Given the description of an element on the screen output the (x, y) to click on. 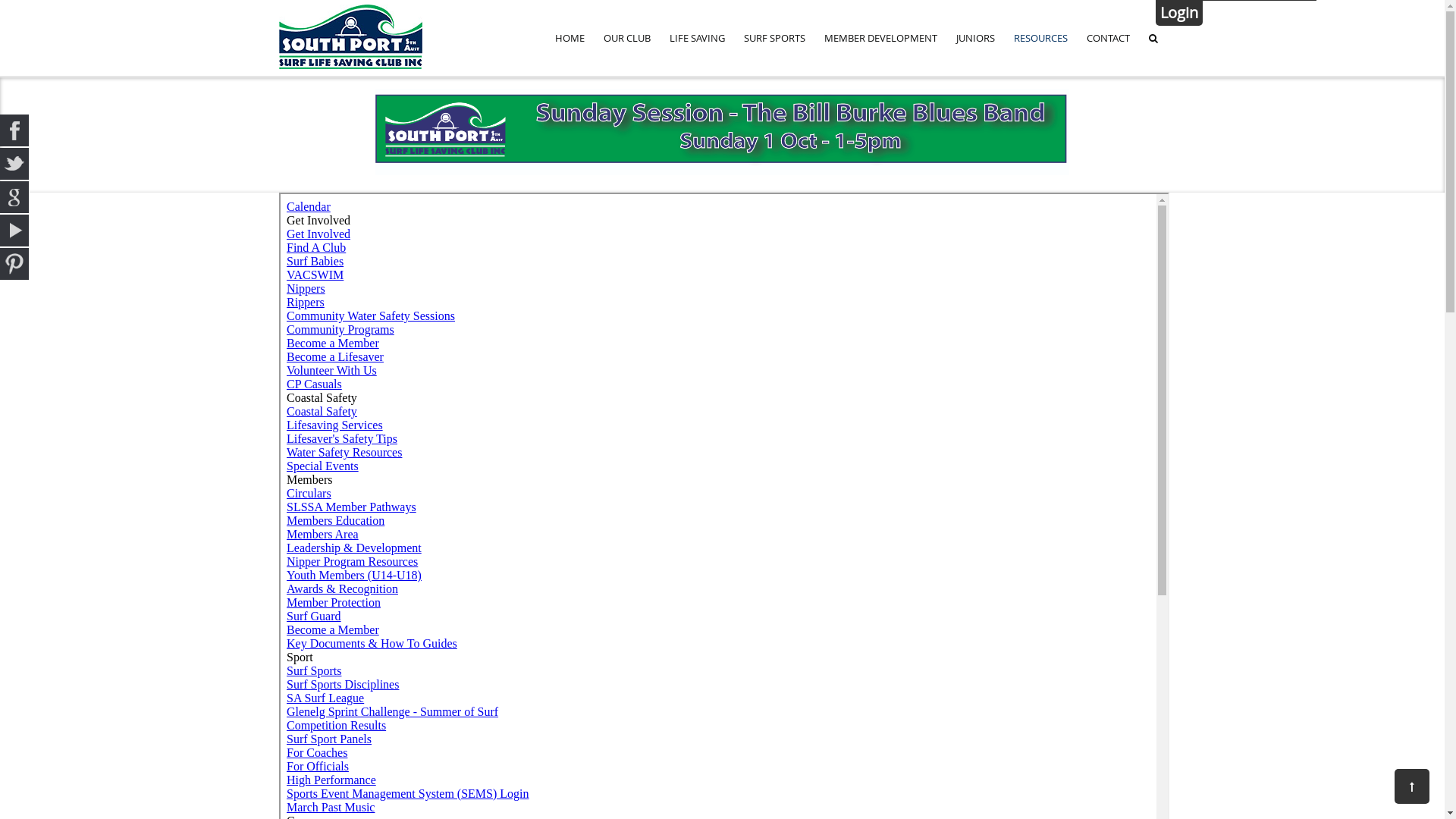
Goto Top Element type: hover (1411, 785)
RESOURCES Element type: text (1040, 37)
OUR CLUB Element type: text (627, 37)
MEMBER DEVELOPMENT Element type: text (880, 37)
JUNIORS Element type: text (975, 37)
SURF SPORTS Element type: text (774, 37)
LIFE SAVING Element type: text (697, 37)
CONTACT Element type: text (1108, 37)
HOME Element type: text (569, 37)
